Given the description of an element on the screen output the (x, y) to click on. 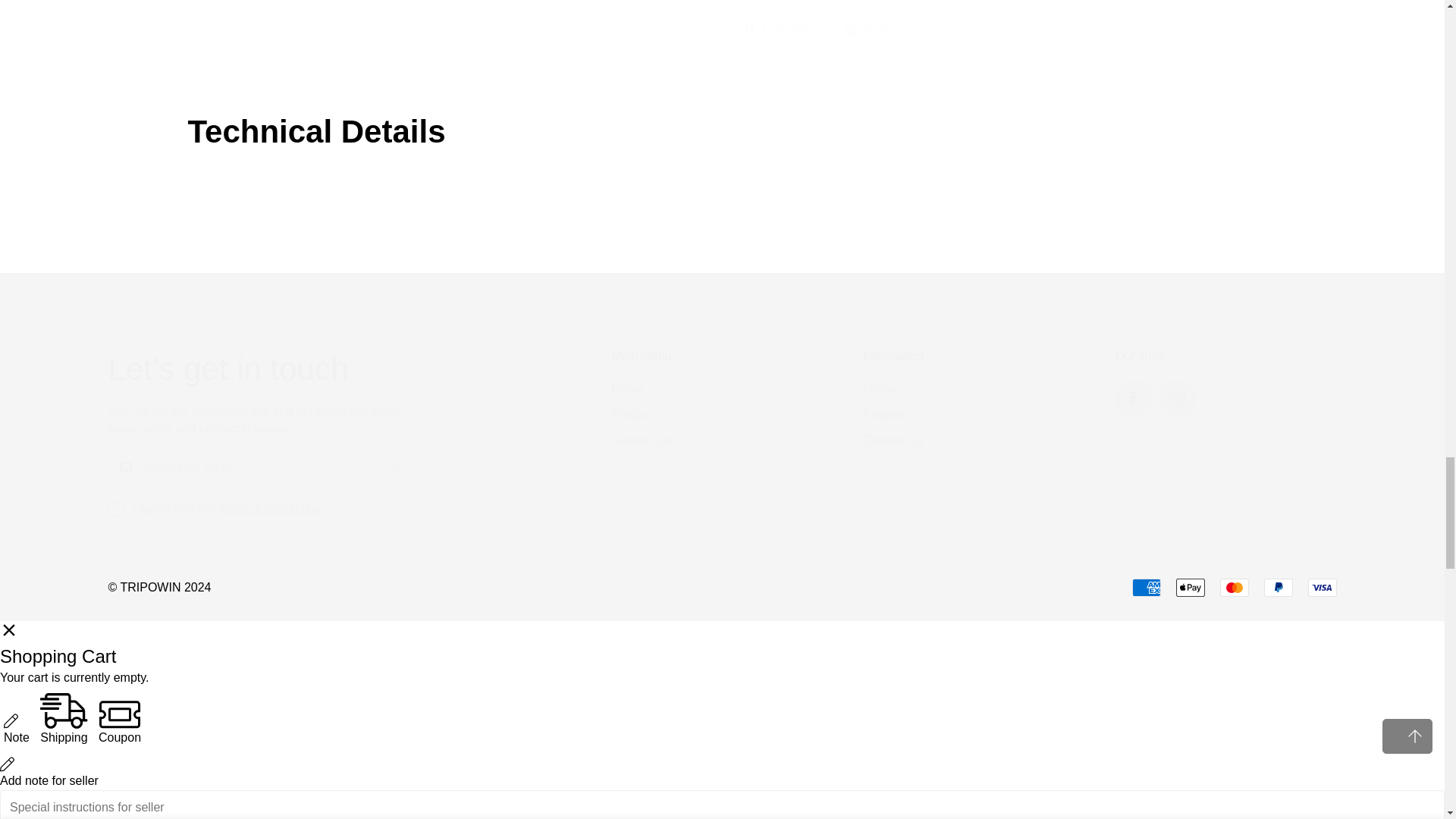
Our store (1225, 384)
